Given the description of an element on the screen output the (x, y) to click on. 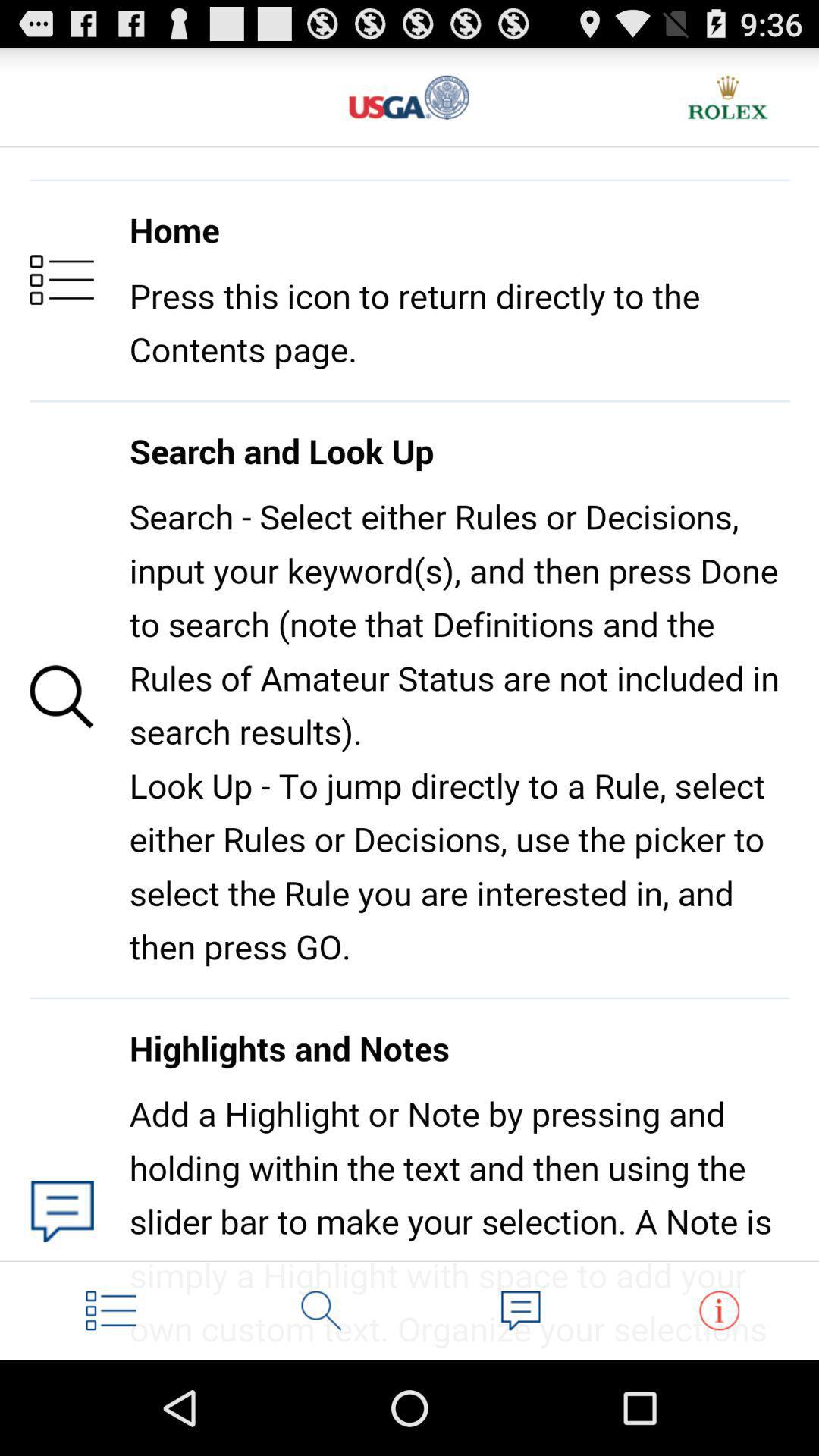
go to rolex website (728, 97)
